Given the description of an element on the screen output the (x, y) to click on. 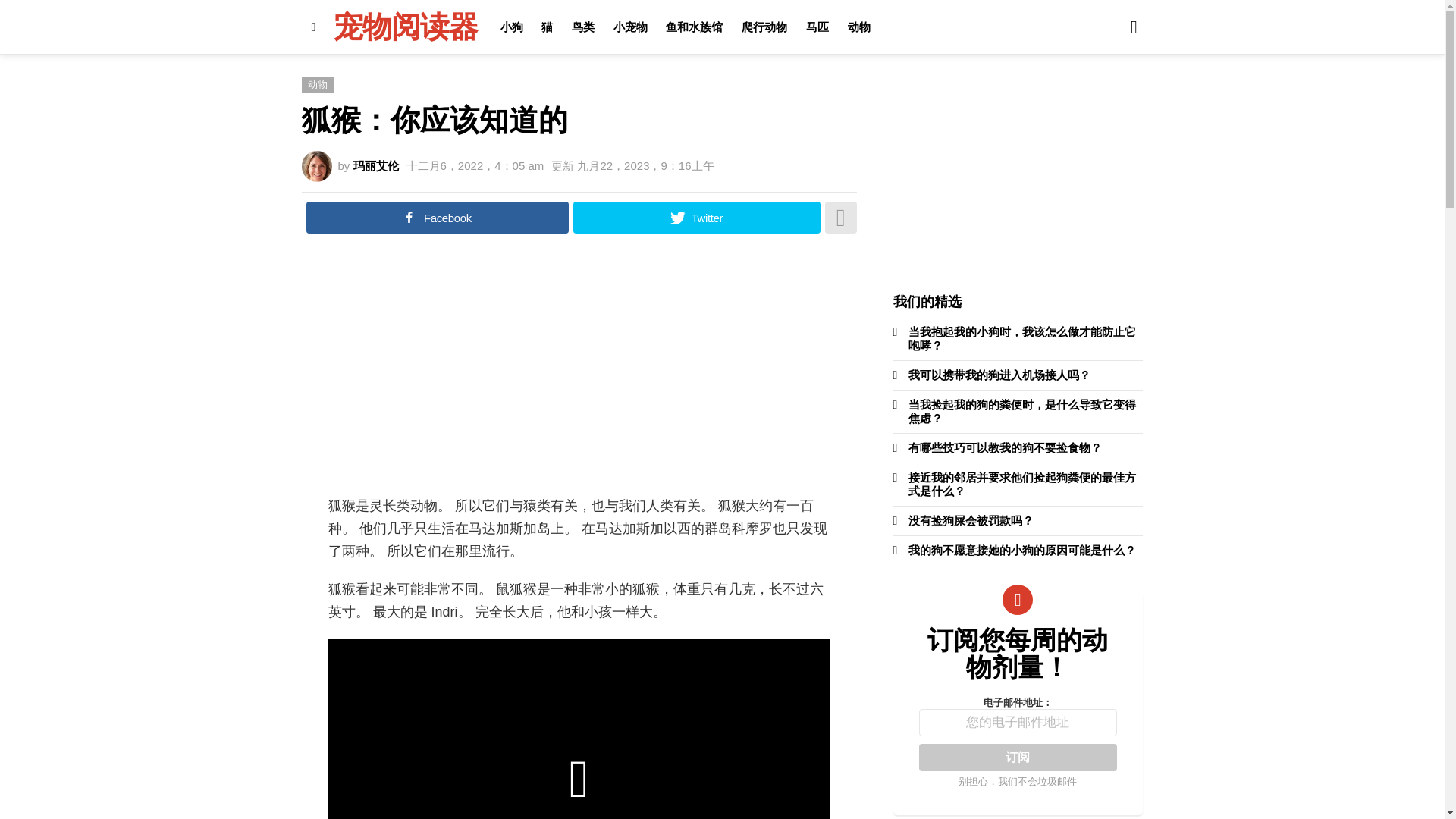
Twitter (696, 217)
Facebook (437, 217)
Advertisement (579, 372)
